Given the description of an element on the screen output the (x, y) to click on. 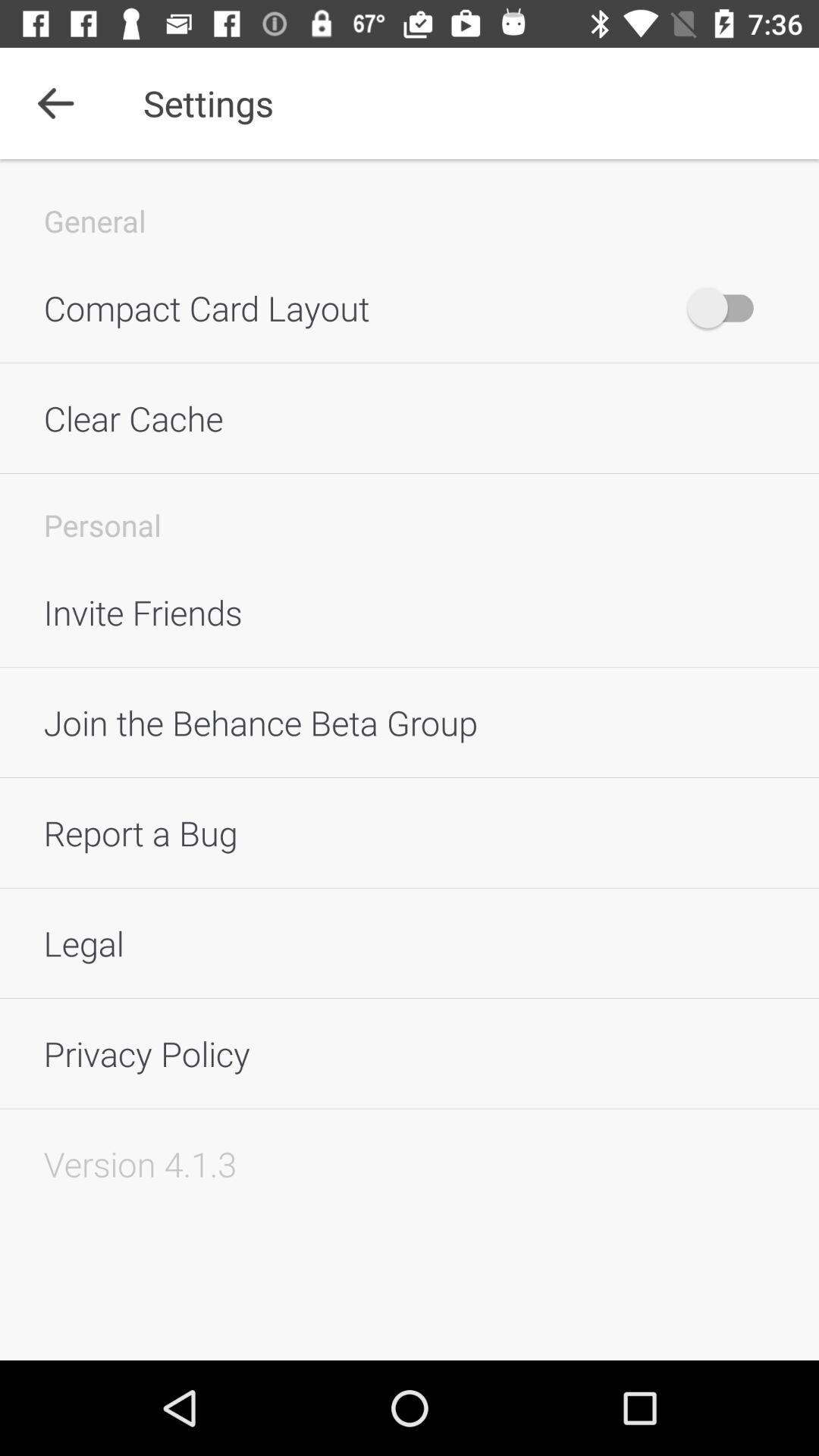
activate compact card layout (727, 307)
